Given the description of an element on the screen output the (x, y) to click on. 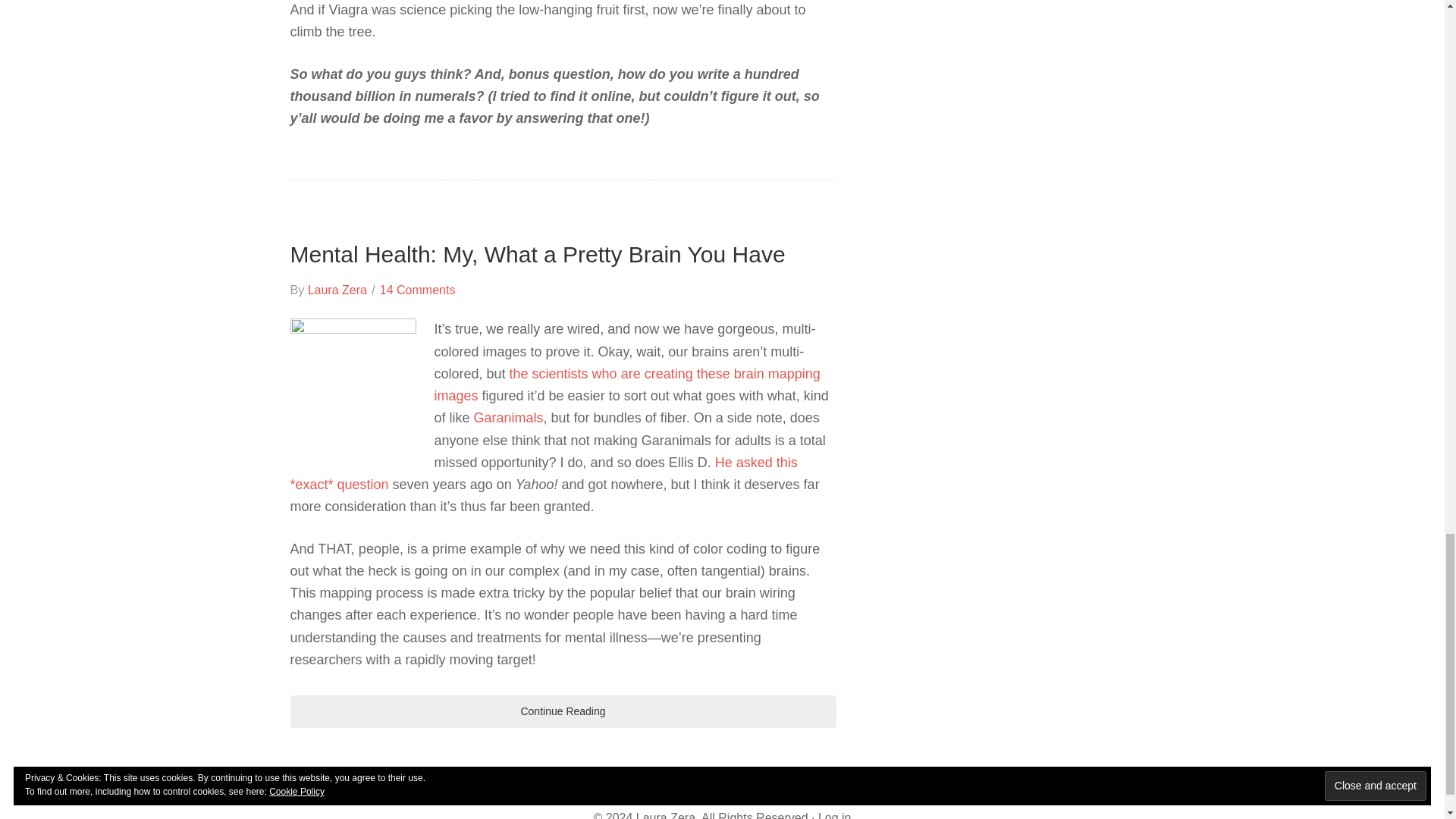
HCP Collaborators (626, 384)
the scientists who are creating these brain mapping images (626, 384)
Garanimals (508, 417)
Mental Health: My, What a Pretty Brain You Have (536, 253)
Why no Garanimals for adults? (542, 473)
Garanimals (508, 417)
Continue Reading (562, 711)
Laura Zera (336, 289)
14 Comments (417, 289)
Image courtesy of Microsoft (351, 379)
Log in (834, 815)
